Given the description of an element on the screen output the (x, y) to click on. 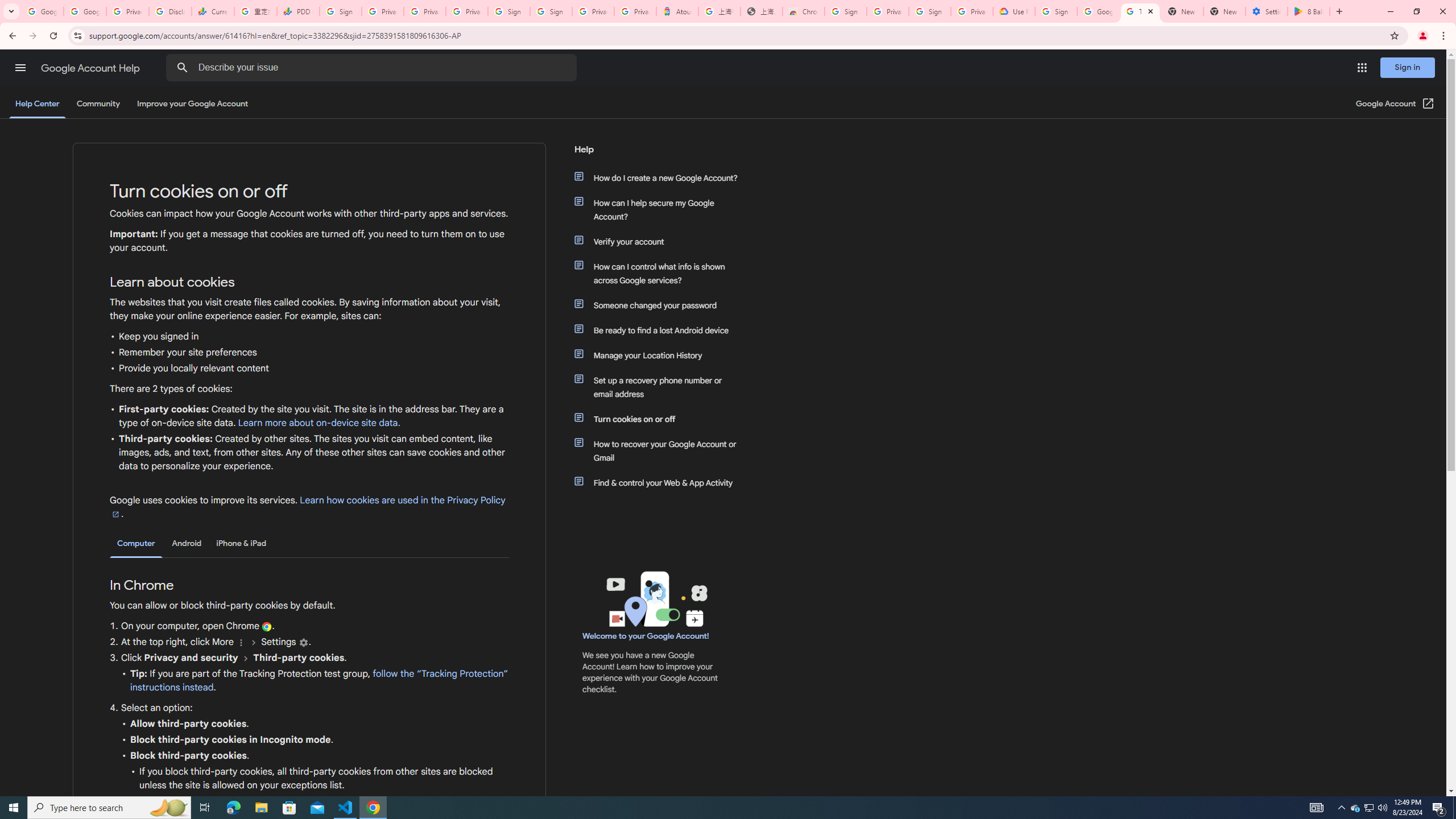
8 Ball Pool - Apps on Google Play (1308, 11)
PDD Holdings Inc - ADR (PDD) Price & News - Google Finance (298, 11)
Main menu (20, 67)
Verify your account (661, 241)
Describe your issue (373, 67)
Settings - System (1266, 11)
Community (97, 103)
